Given the description of an element on the screen output the (x, y) to click on. 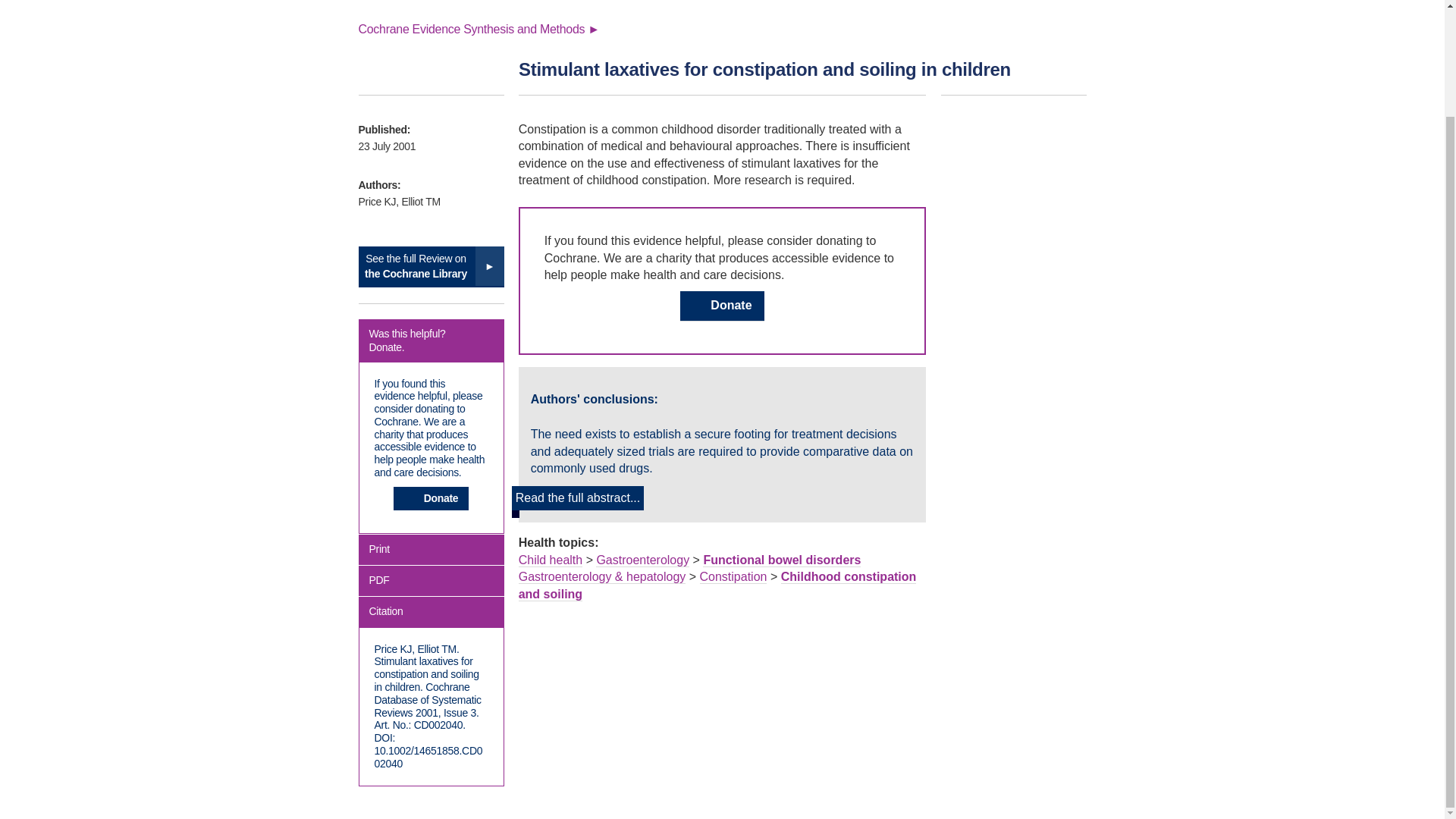
Childhood constipation and soiling (717, 585)
Child health (550, 560)
Donate (430, 498)
Functional bowel disorders (781, 560)
Gastroenterology (641, 560)
Donate (720, 306)
Constipation (733, 576)
